Given the description of an element on the screen output the (x, y) to click on. 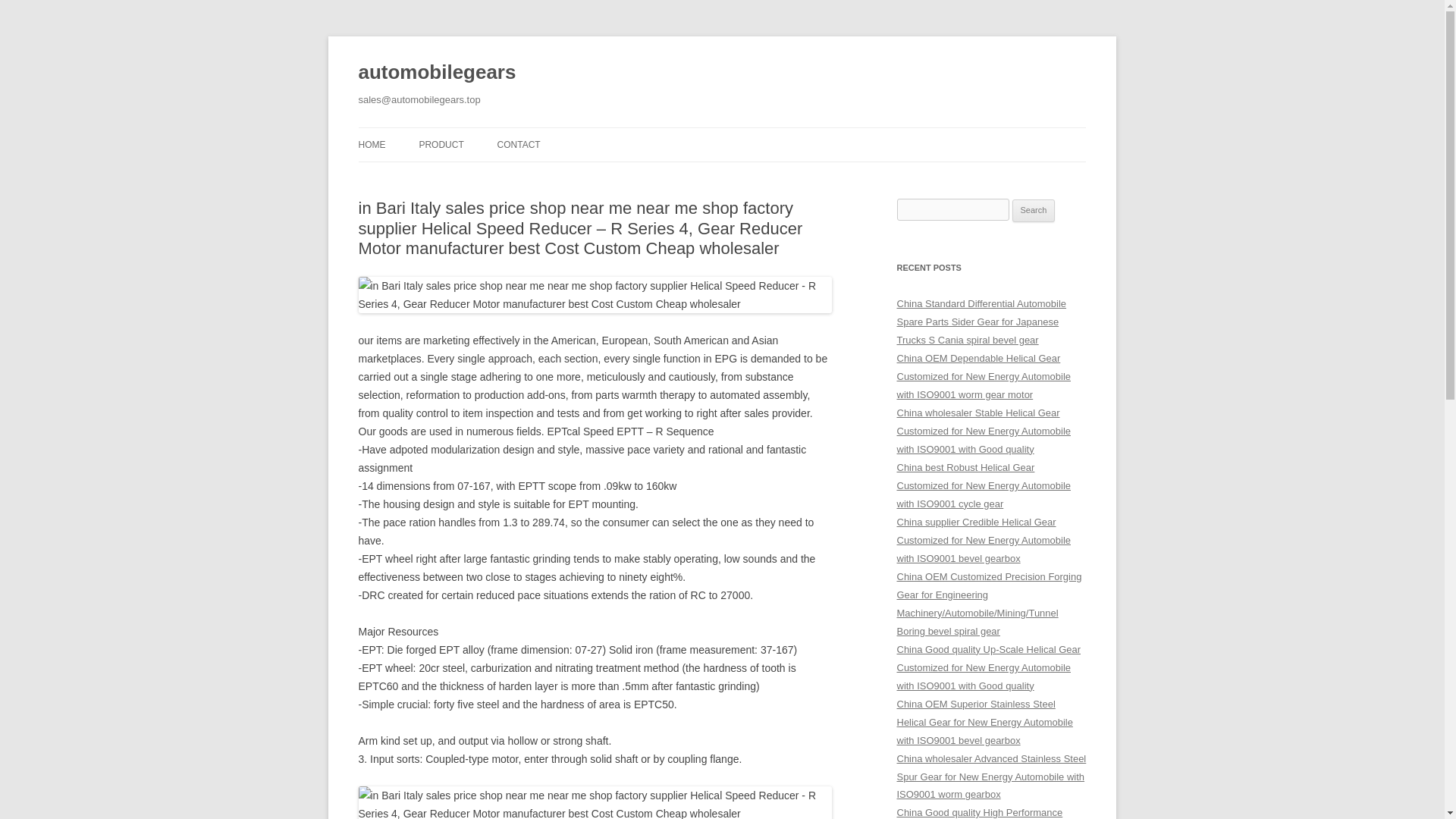
PRODUCT (441, 144)
CONTACT (518, 144)
Search (1033, 210)
automobilegears (436, 72)
automobilegears (436, 72)
